Given the description of an element on the screen output the (x, y) to click on. 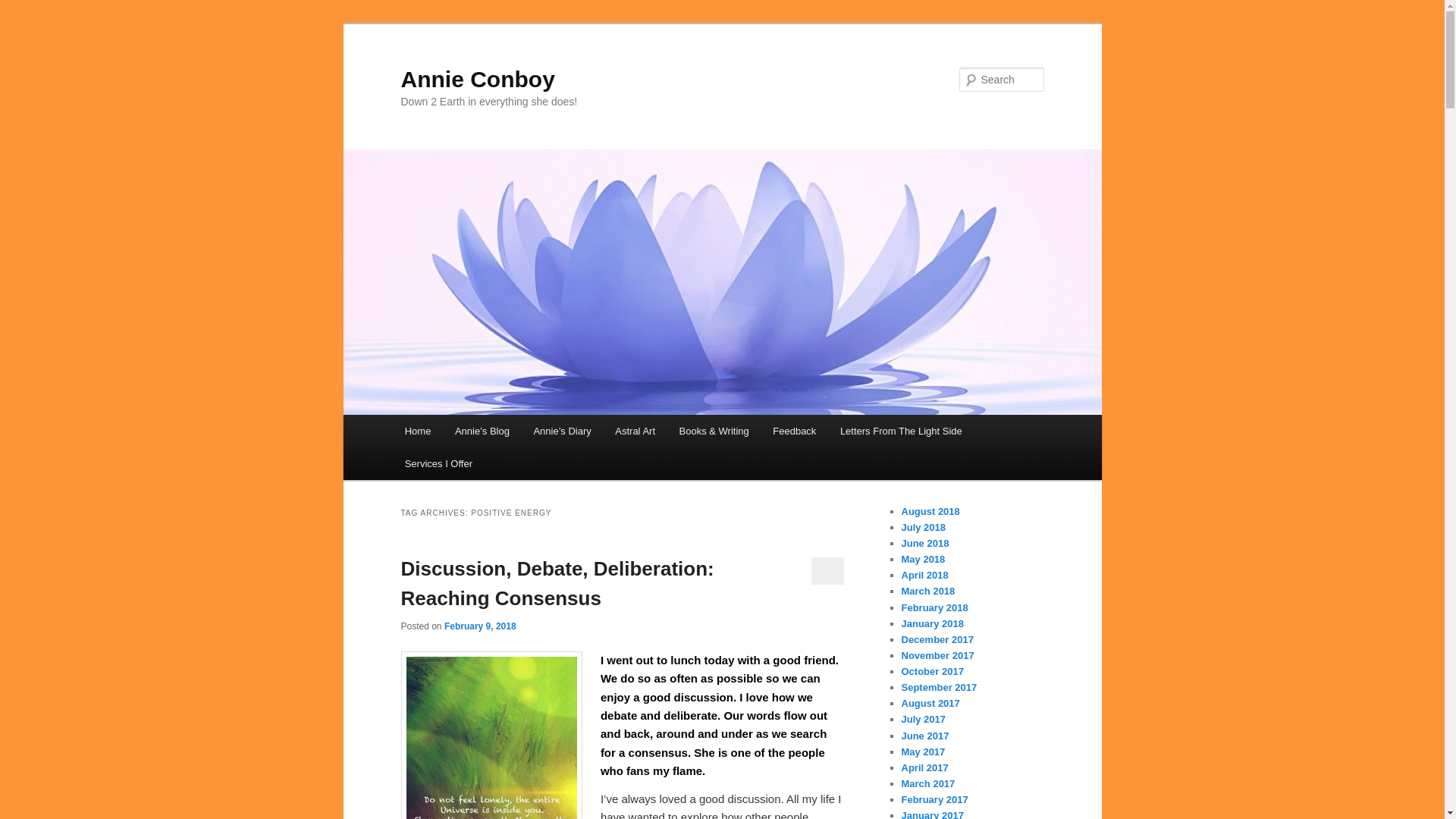
Search (24, 8)
Services I Offer (438, 463)
Feedback (794, 430)
February 9, 2018 (480, 625)
Home (417, 430)
Discussion, Debate, Deliberation: Reaching Consensus (556, 583)
Annie Conboy (477, 78)
Astral Art (635, 430)
Letters From The Light Side (901, 430)
